Given the description of an element on the screen output the (x, y) to click on. 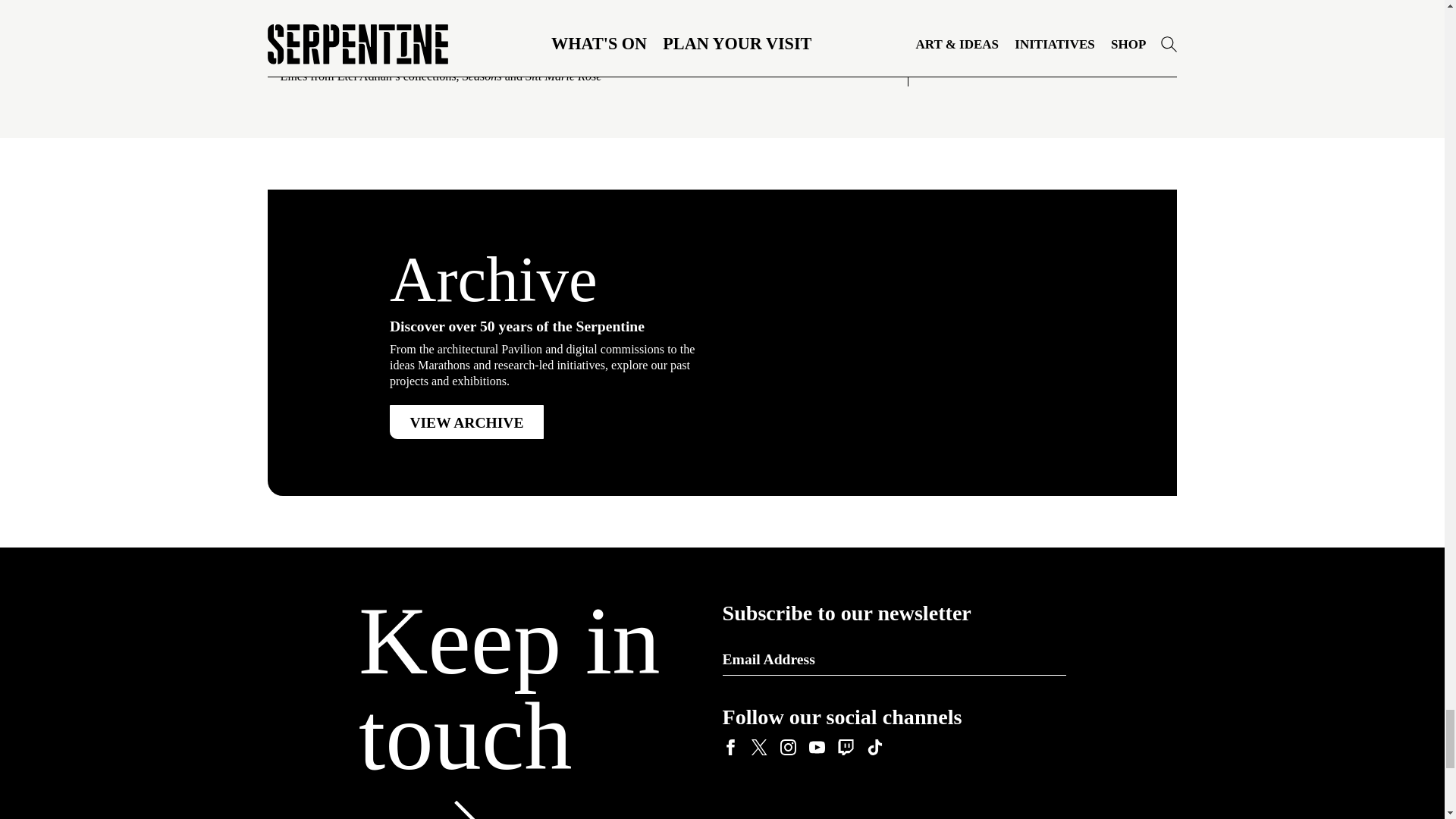
Instagram (786, 747)
Sign Up (1045, 658)
Email Address (893, 658)
Youtube (816, 747)
Twitch (845, 747)
Twitter (759, 747)
Facebook (730, 747)
Tiktok (874, 747)
